Given the description of an element on the screen output the (x, y) to click on. 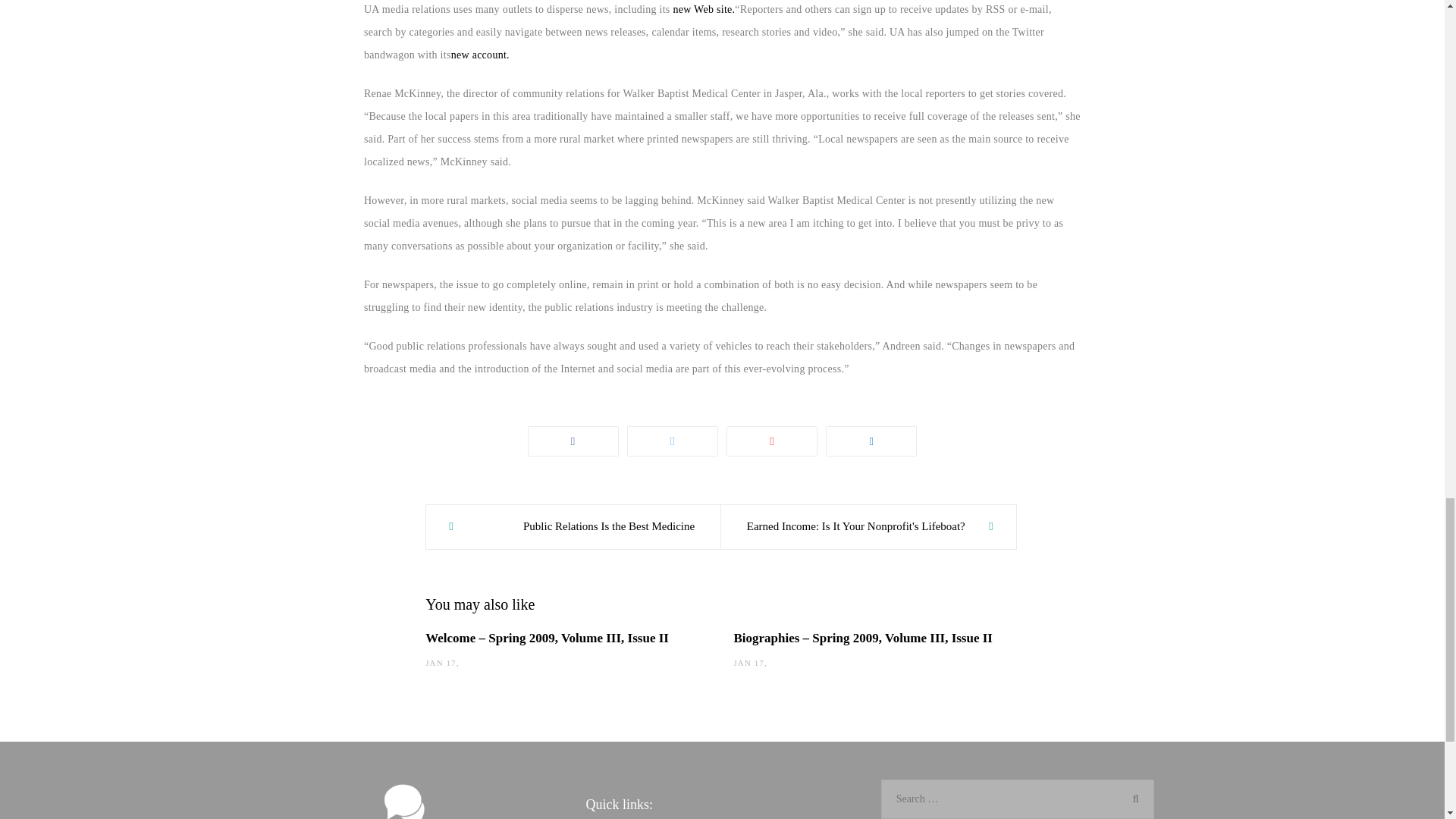
Earned Income: Is It Your Nonprofit's Lifeboat? (868, 526)
Tuesday, January 17, 2012, 12:08 am (440, 662)
Public Relations Is the Best Medicine (572, 526)
Tuesday, January 17, 2012, 12:04 am (747, 662)
new account. (480, 54)
new Web site. (703, 9)
